Given the description of an element on the screen output the (x, y) to click on. 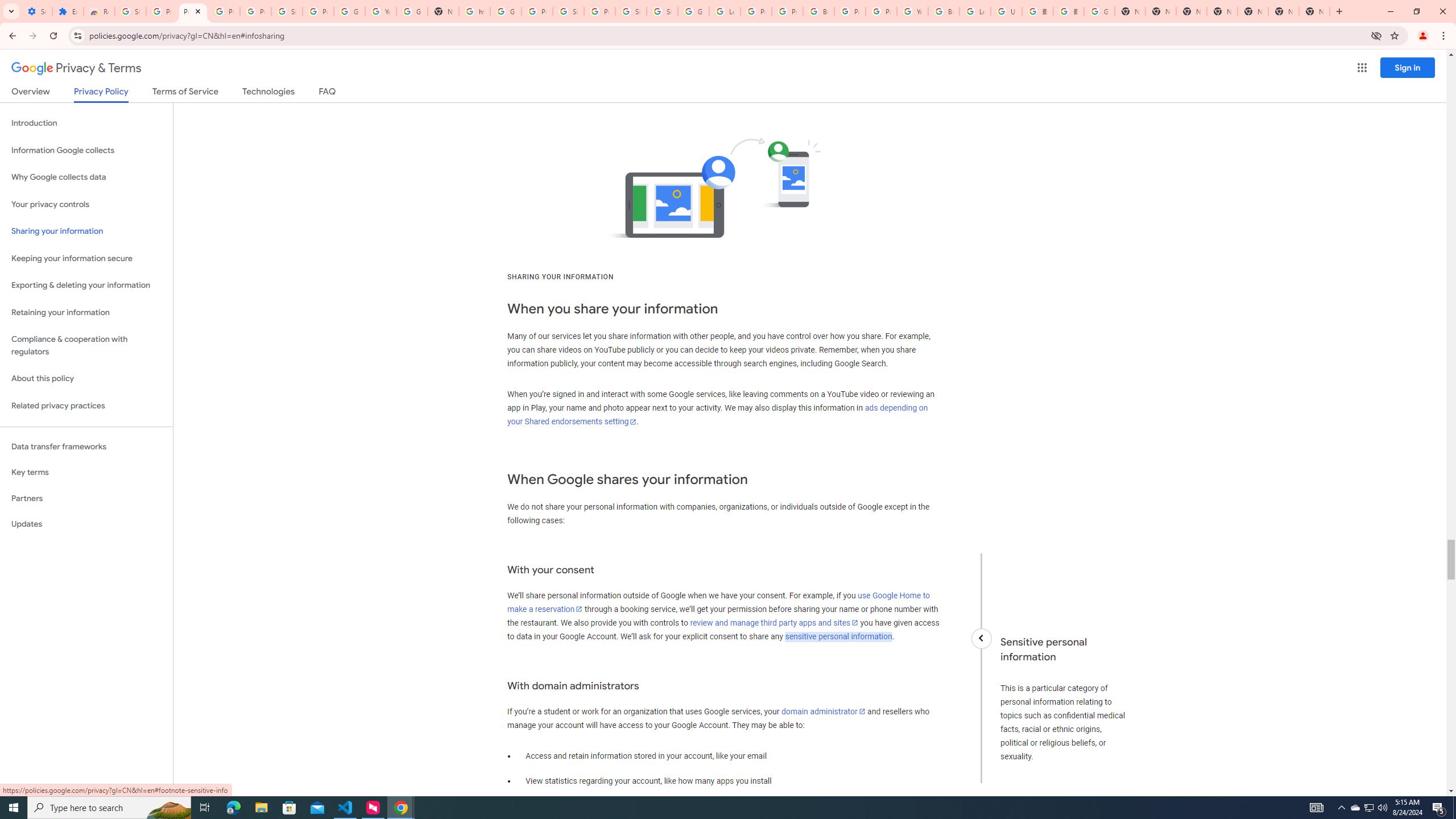
Settings - On startup (36, 11)
Partners (86, 497)
Technologies (268, 93)
Privacy & Terms (76, 68)
Sign in - Google Accounts (662, 11)
Sign in - Google Accounts (286, 11)
YouTube (380, 11)
Sharing your information (86, 230)
Your privacy controls (86, 204)
Sign in - Google Accounts (130, 11)
Privacy Policy (100, 94)
Privacy Help Center - Policies Help (787, 11)
